Given the description of an element on the screen output the (x, y) to click on. 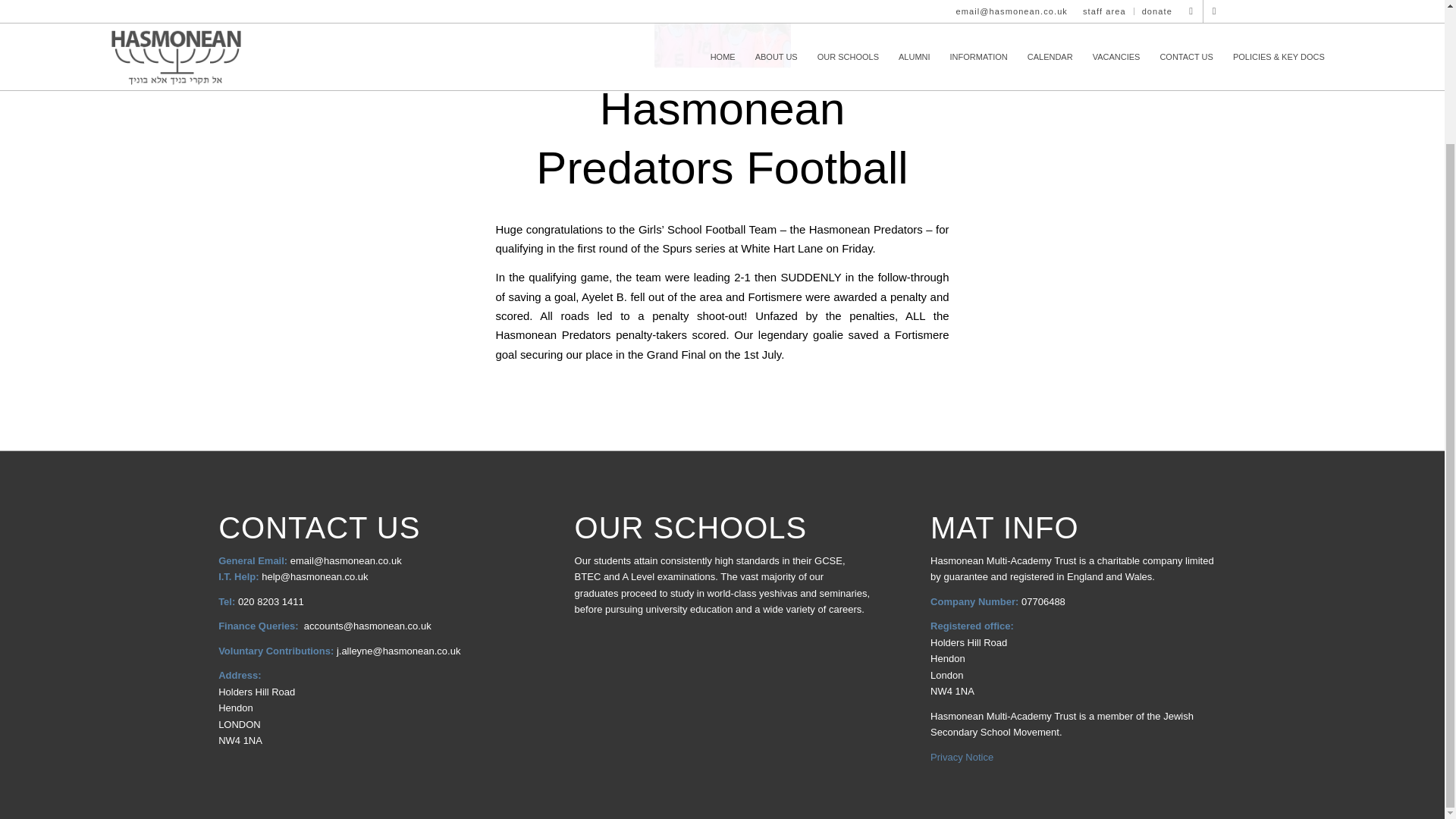
Privacy Notice (961, 756)
PicFootball (721, 33)
Hasmonean Predators Football (721, 138)
Permanent Link: Hasmonean Predators Football (721, 138)
